Given the description of an element on the screen output the (x, y) to click on. 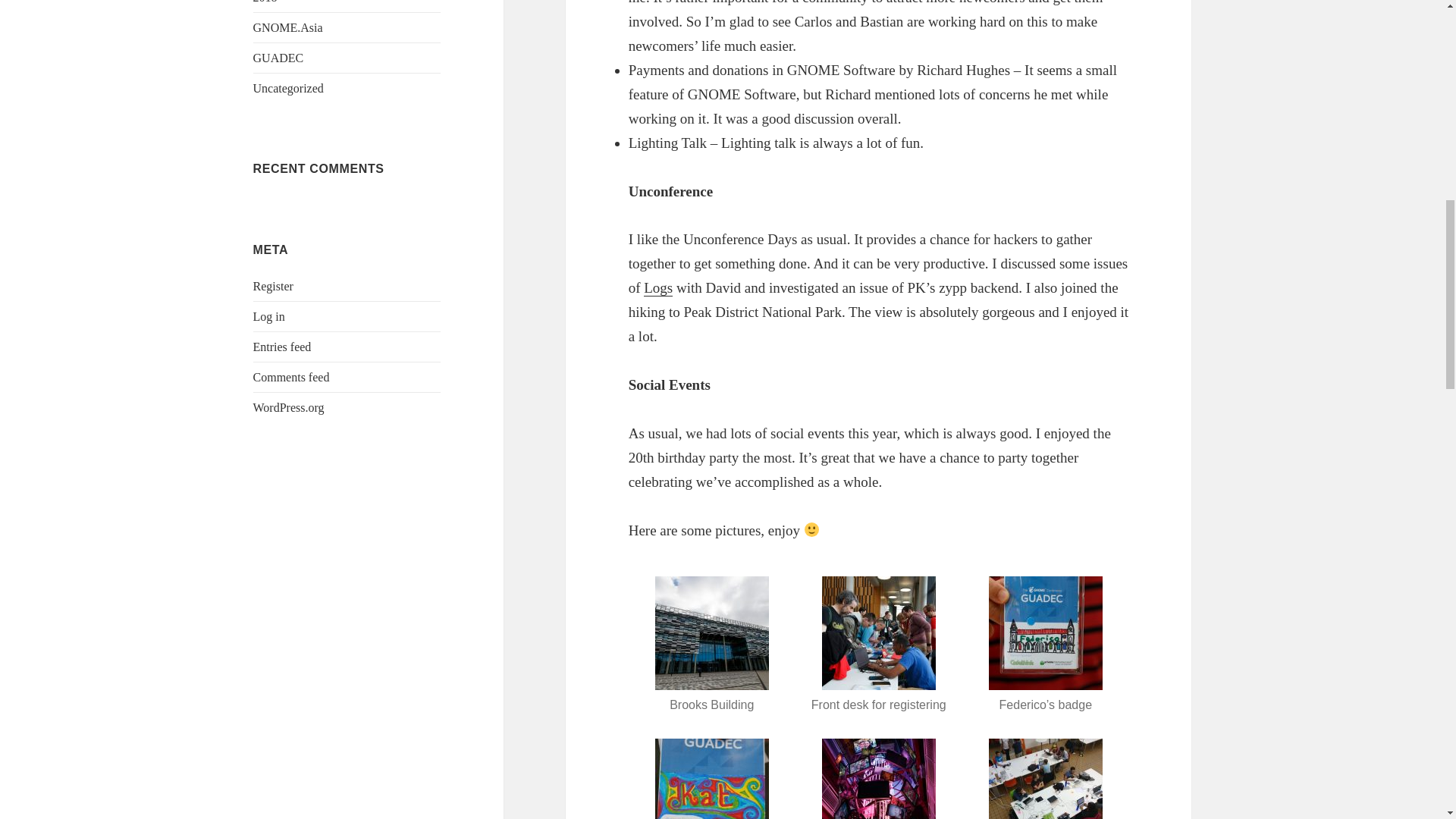
GNOME.Asia (288, 27)
Log in (269, 316)
GUADEC (278, 57)
2018 (265, 2)
Entries feed (282, 346)
WordPress.org (288, 407)
Register (273, 286)
Uncategorized (288, 88)
Comments feed (291, 377)
Logs (657, 288)
